Given the description of an element on the screen output the (x, y) to click on. 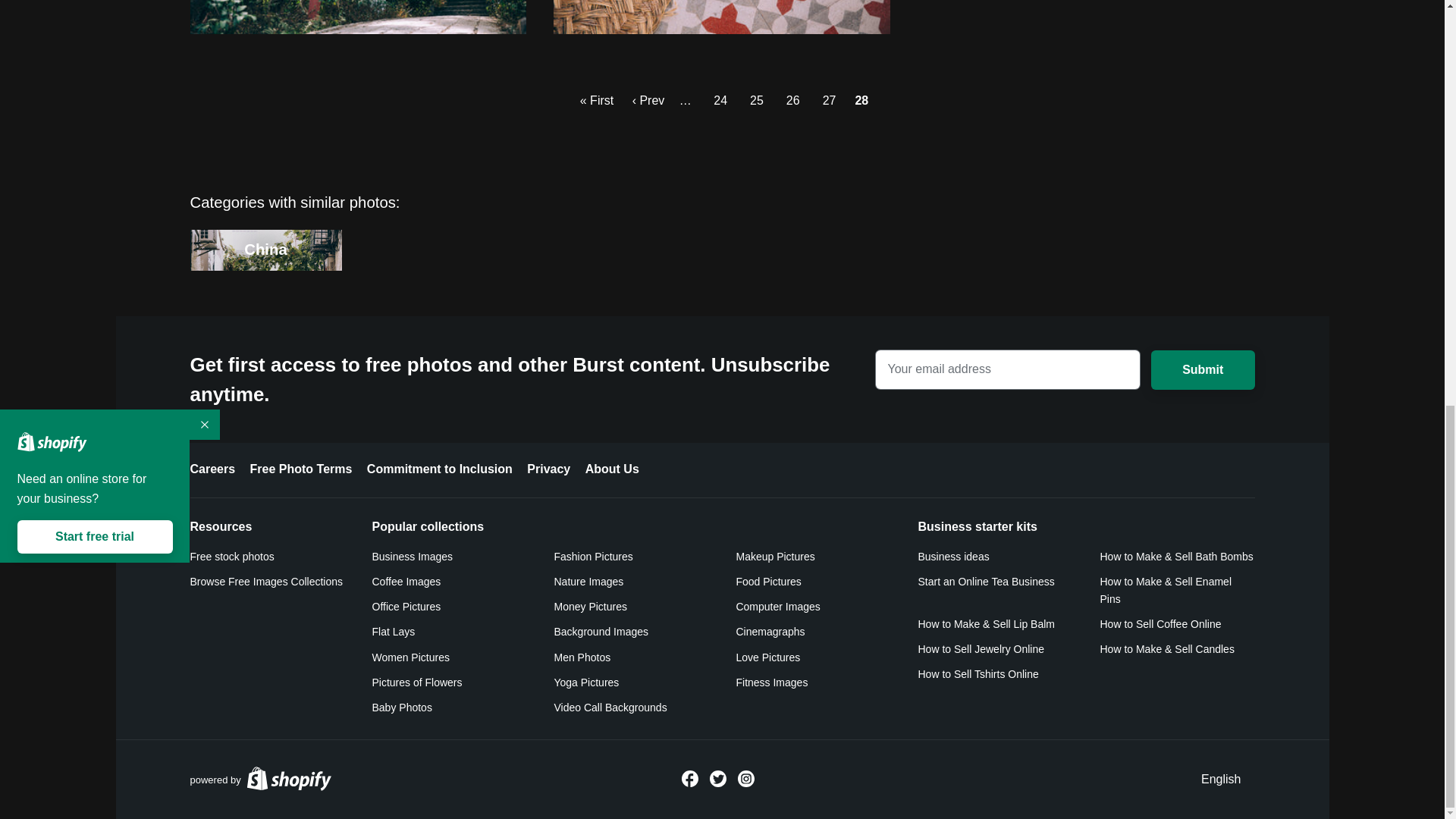
China (264, 250)
China (721, 257)
China (721, 250)
